Given the description of an element on the screen output the (x, y) to click on. 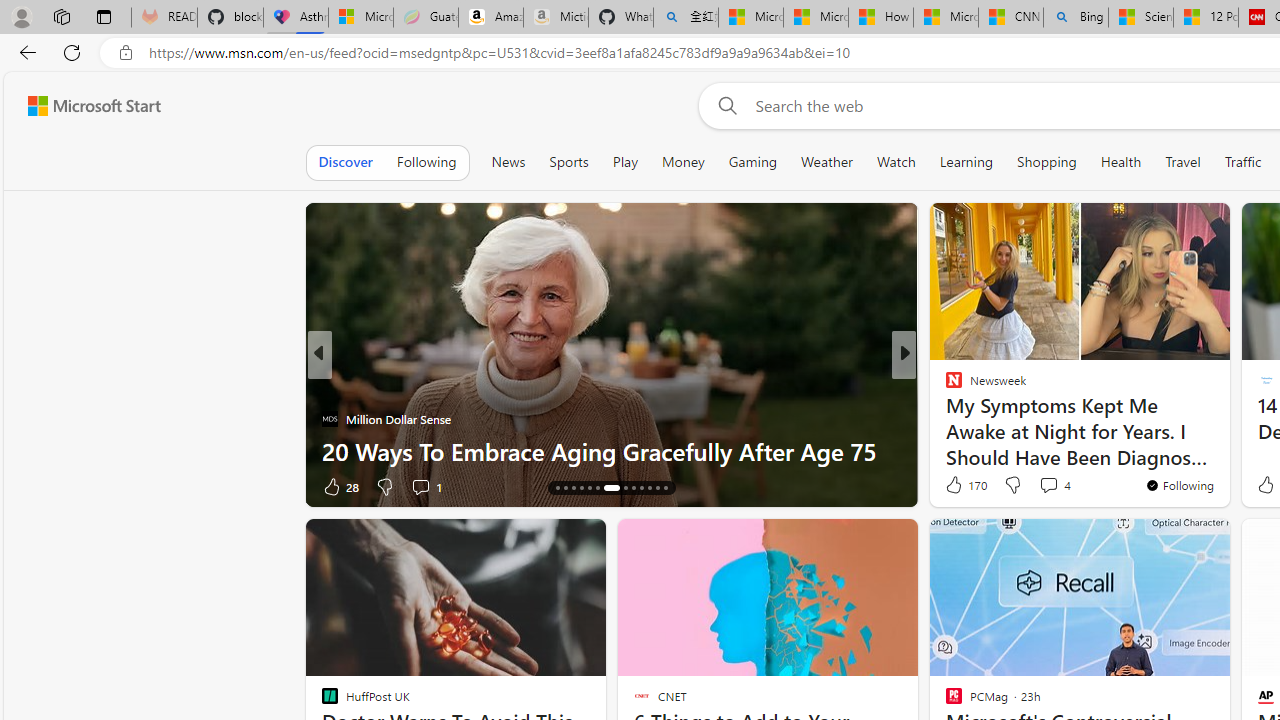
AutomationID: tab-20 (605, 487)
View comments 231 Comment (1048, 486)
236 Like (959, 486)
Popular Mechanics (944, 386)
Newsweek (329, 386)
Hide this story (1169, 542)
AutomationID: tab-25 (656, 487)
